Given the description of an element on the screen output the (x, y) to click on. 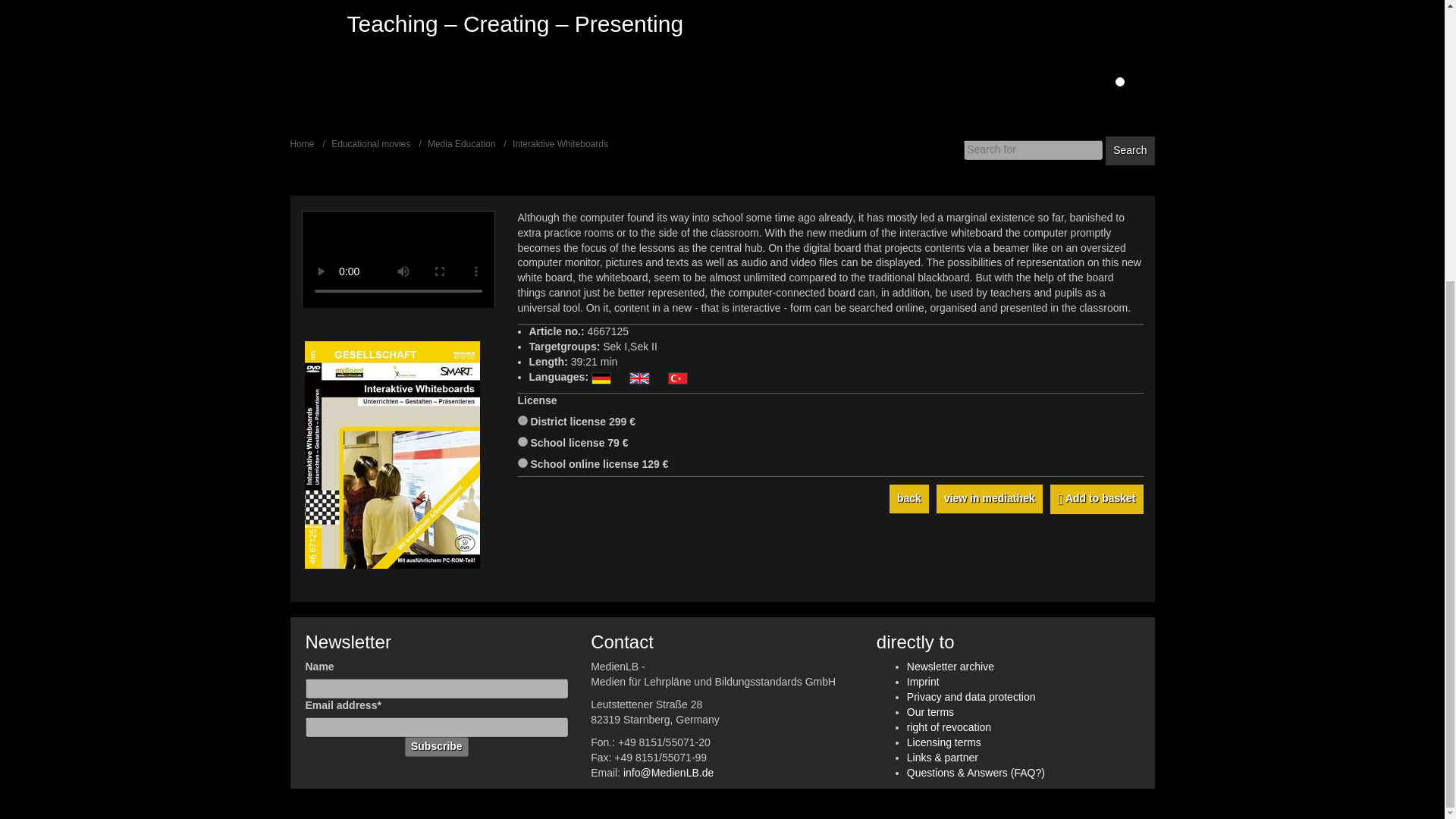
10ccd01144664863014472f1f48a000e (521, 462)
10ccd01144664863014472f1b964000d (521, 441)
10ccd01144664863014472f1463d000c (521, 420)
